Given the description of an element on the screen output the (x, y) to click on. 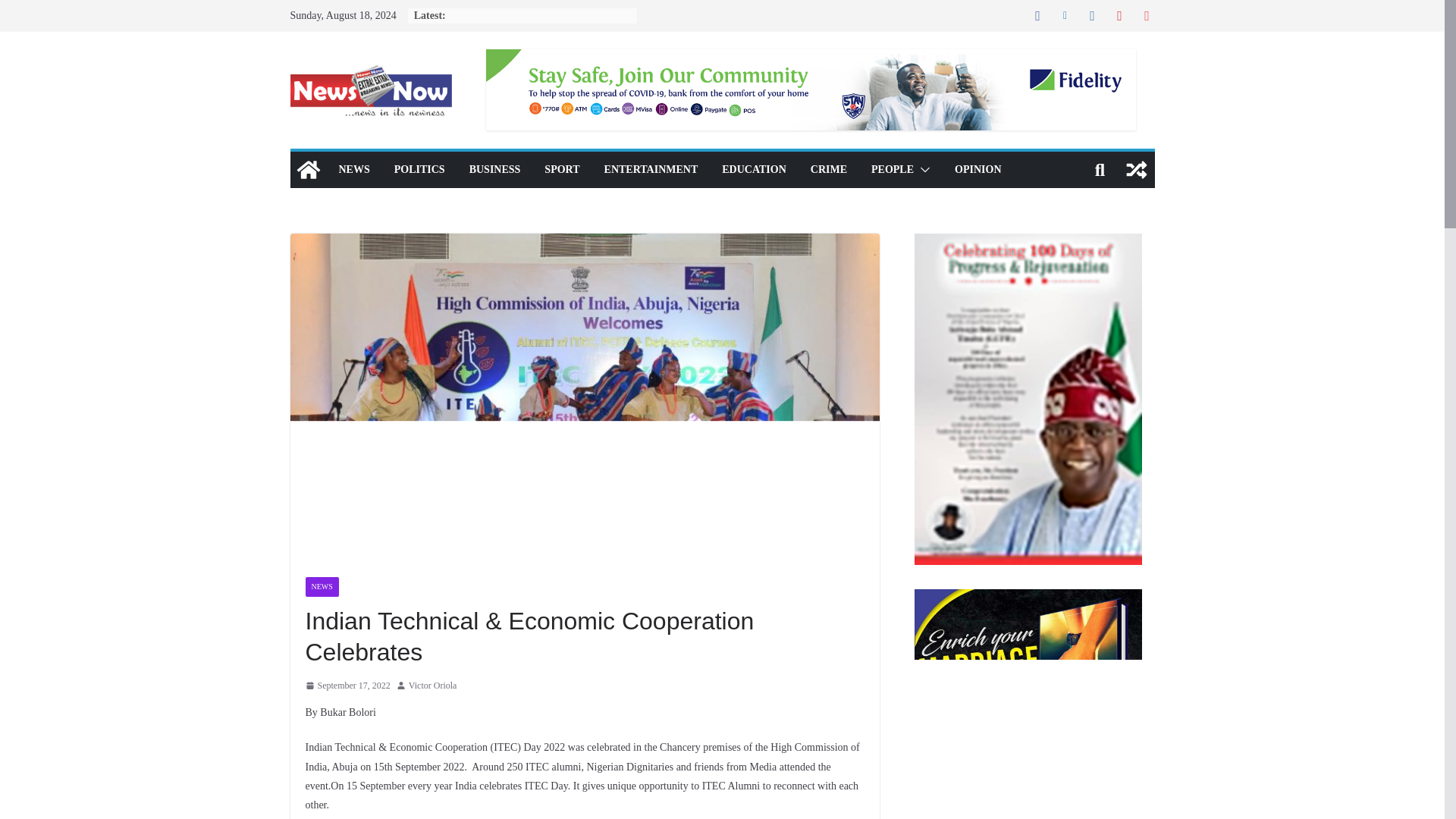
View a random post (1136, 169)
NEWS (320, 586)
CRIME (828, 169)
7:53 am (347, 686)
Victor Oriola (433, 686)
Victor Oriola (433, 686)
OPINION (978, 169)
POLITICS (419, 169)
EDUCATION (754, 169)
ENTERTAINMENT (651, 169)
